Given the description of an element on the screen output the (x, y) to click on. 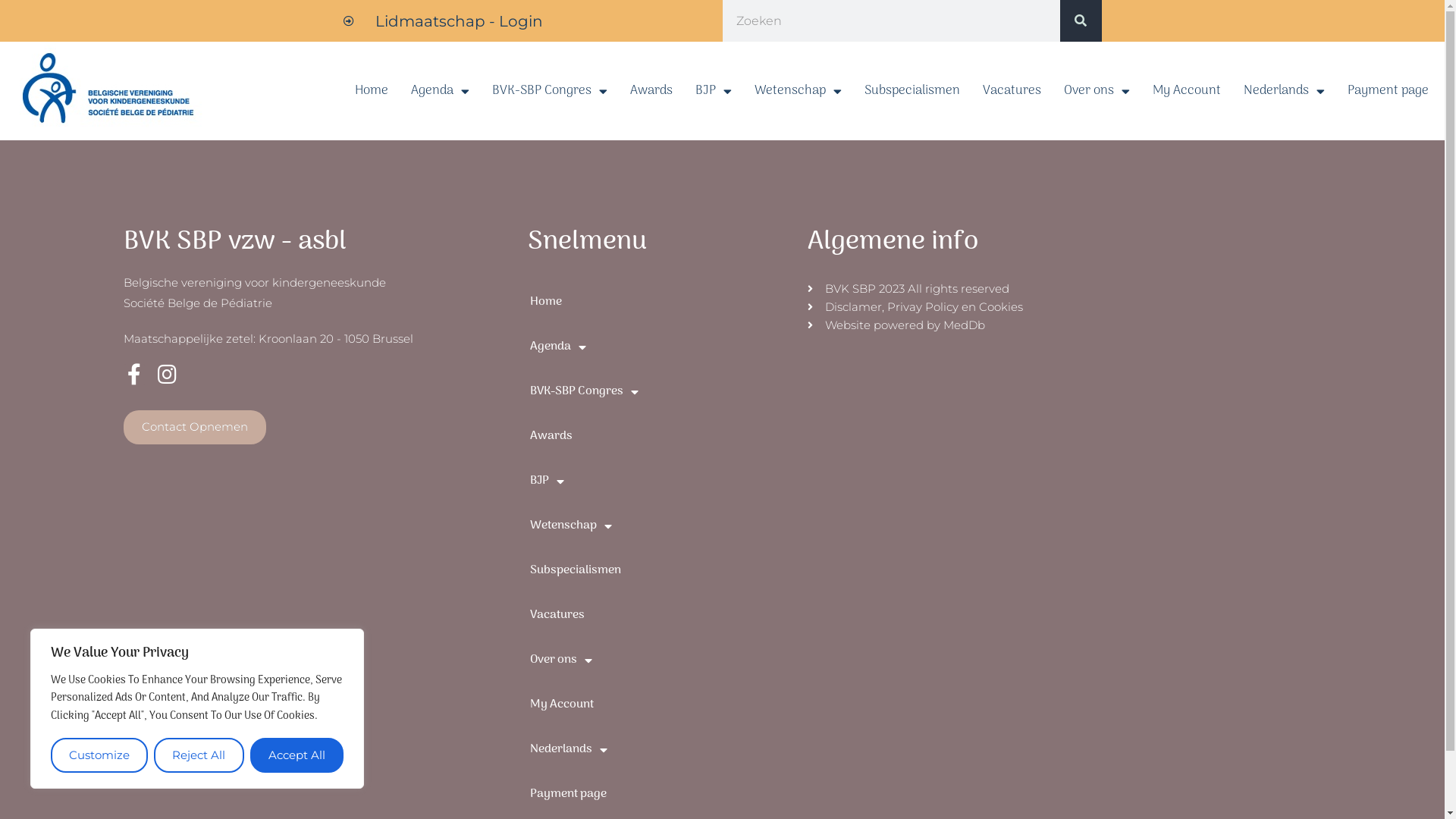
Vacatures Element type: text (1011, 90)
Nederlands Element type: text (660, 749)
Wetenschap Element type: text (660, 525)
BVK-SBP Congres Element type: text (549, 90)
Wetenschap Element type: text (797, 90)
Nederlands Element type: text (1284, 90)
Vacatures Element type: text (660, 615)
BJP Element type: text (660, 480)
BVK-SBP Congres Element type: text (660, 391)
Home Element type: text (660, 301)
Website powered by MedDb Element type: text (1062, 325)
My Account Element type: text (1186, 90)
Reject All Element type: text (198, 754)
Subspecialismen Element type: text (660, 570)
Subspecialismen Element type: text (911, 90)
Contact Opnemen Element type: text (193, 427)
Payment page Element type: text (1387, 90)
Payment page Element type: text (660, 793)
Lidmaatschap - Login Element type: text (442, 21)
Awards Element type: text (660, 436)
Accept All Element type: text (296, 754)
Awards Element type: text (651, 90)
Over ons Element type: text (1096, 90)
BJP Element type: text (713, 90)
My Account Element type: text (660, 704)
Over ons Element type: text (660, 659)
Home Element type: text (371, 90)
Agenda Element type: text (660, 346)
Customize Element type: text (98, 754)
Agenda Element type: text (439, 90)
Disclamer, Privay Policy en Cookies Element type: text (1062, 307)
